Given the description of an element on the screen output the (x, y) to click on. 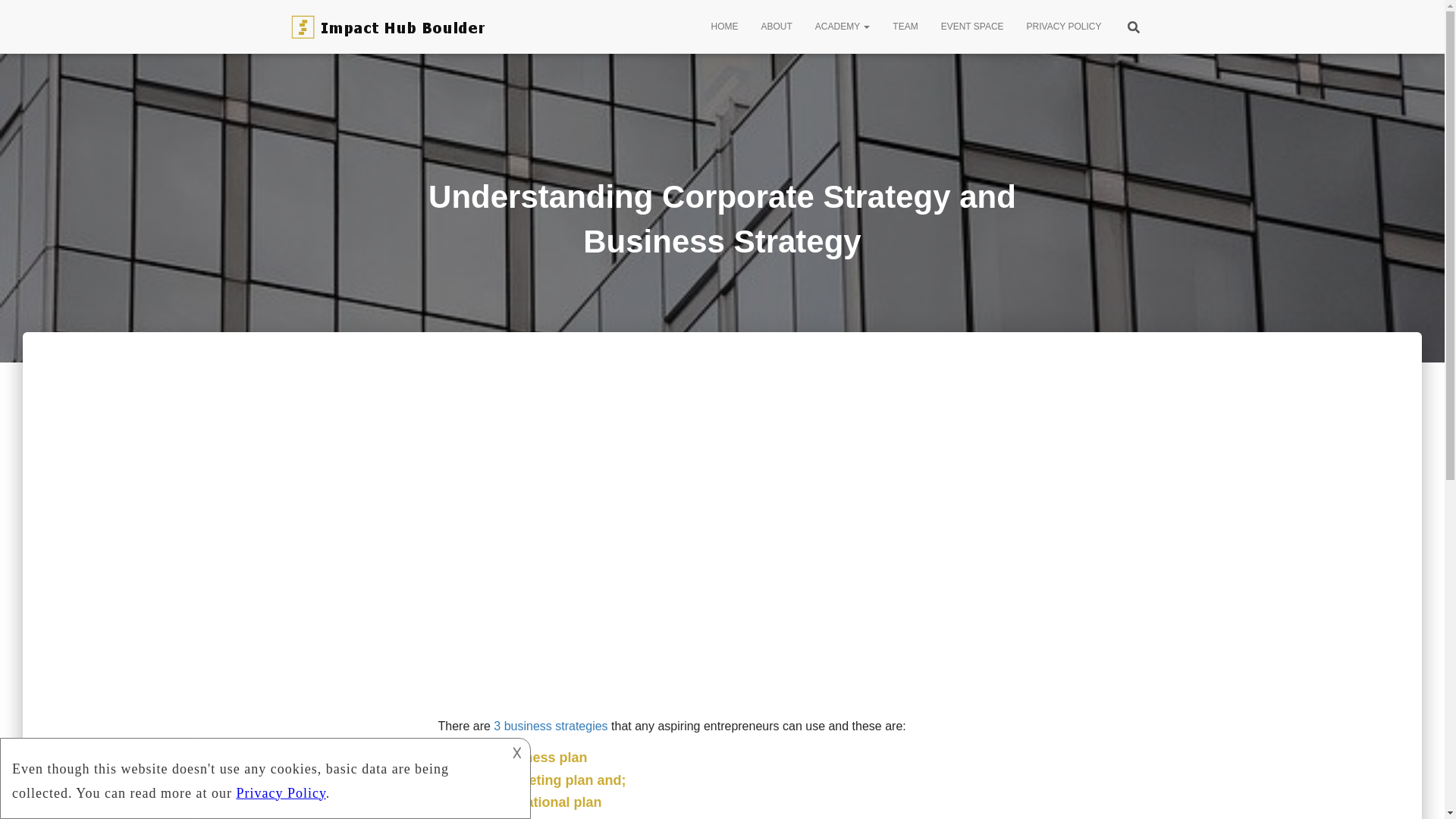
Team (904, 26)
PRIVACY POLICY (1063, 26)
ABOUT (776, 26)
Privacy Policy (1063, 26)
description (252, 776)
3 business strategies (550, 725)
TEAM (904, 26)
Impact Hub Boulder (392, 26)
Event Space (972, 26)
